Given the description of an element on the screen output the (x, y) to click on. 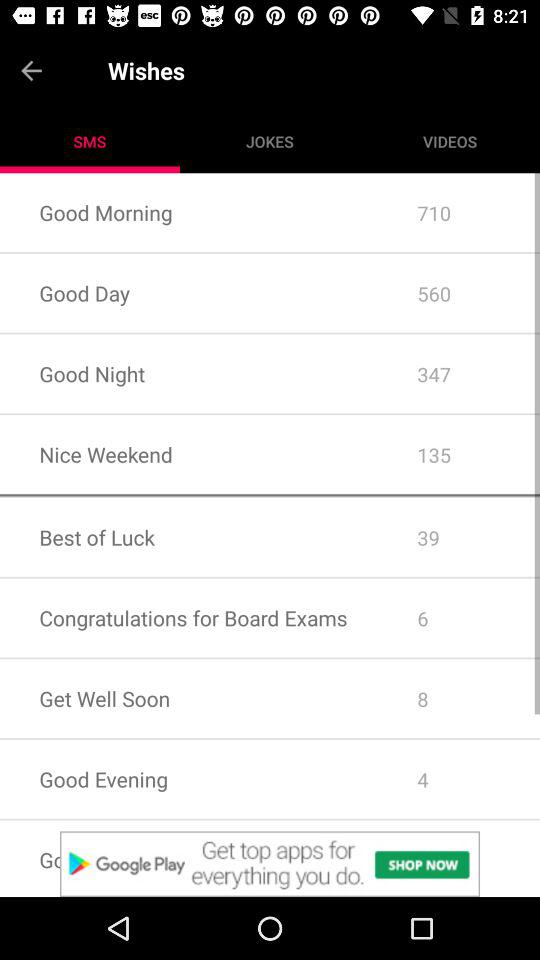
click icon to the left of the 8 icon (188, 778)
